Given the description of an element on the screen output the (x, y) to click on. 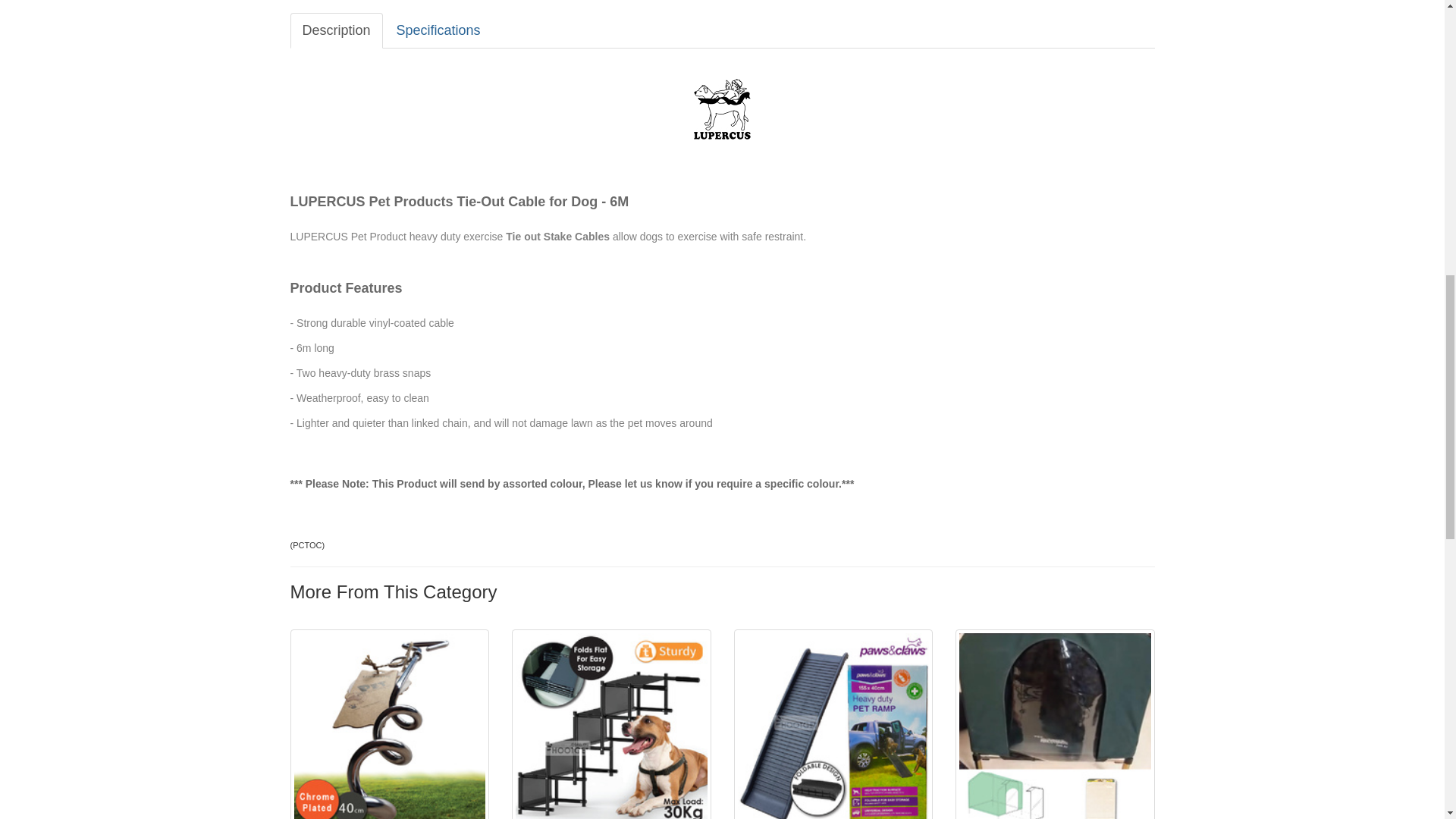
Large View (416, 2)
Large View (324, 2)
